Given the description of an element on the screen output the (x, y) to click on. 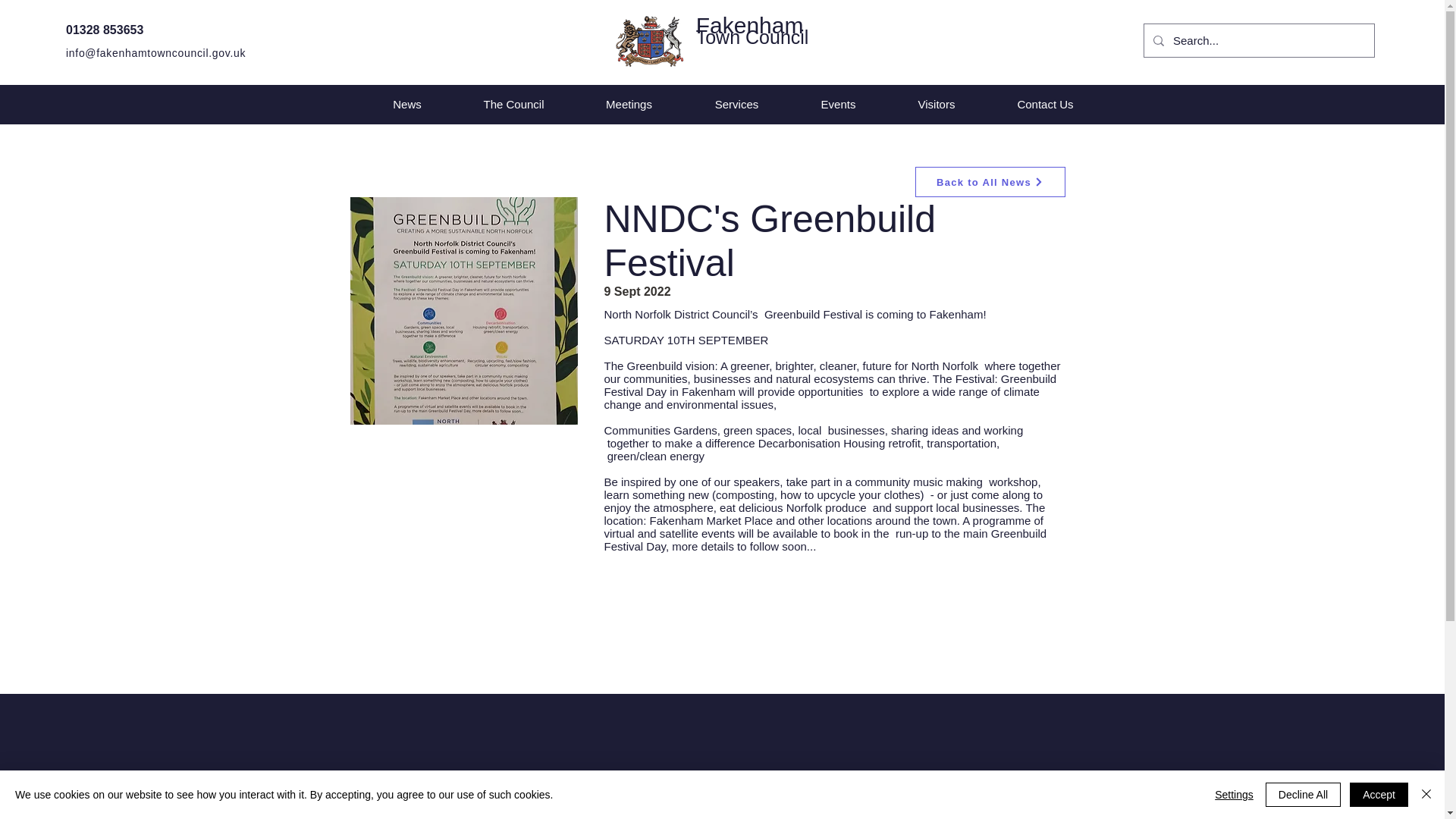
Meetings (629, 104)
Services (737, 104)
Back to All News (989, 182)
Visitors (936, 104)
News (406, 104)
Greenbuild.jpg (464, 311)
Events (838, 104)
Contact Us (1044, 104)
Fakenham (749, 25)
The Council (513, 104)
